Given the description of an element on the screen output the (x, y) to click on. 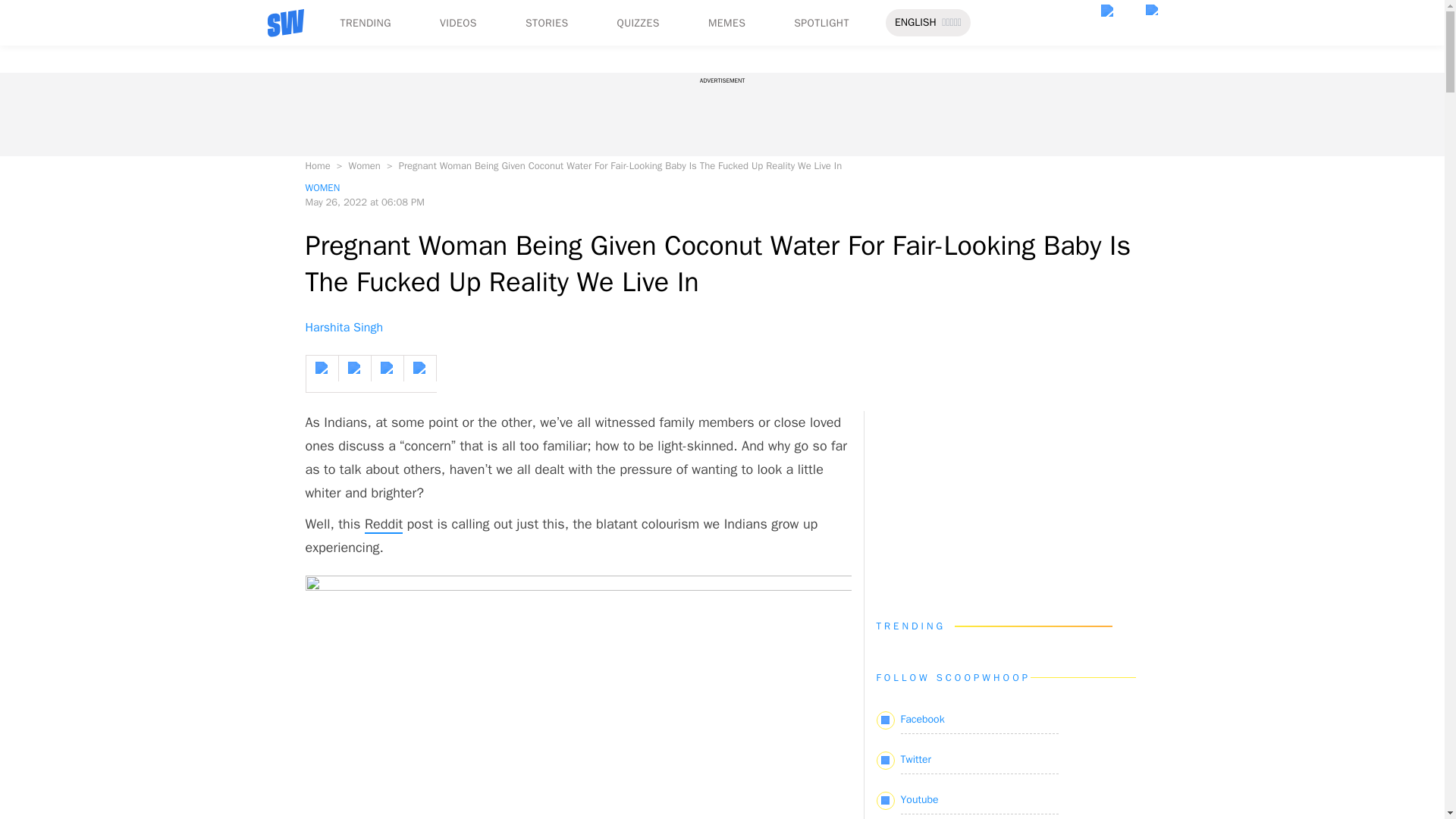
QUIZZES (638, 22)
MEMES (726, 22)
STORIES (547, 22)
SPOTLIGHT (820, 22)
VIDEOS (458, 22)
TRENDING (364, 22)
ENGLISH (915, 22)
